Given the description of an element on the screen output the (x, y) to click on. 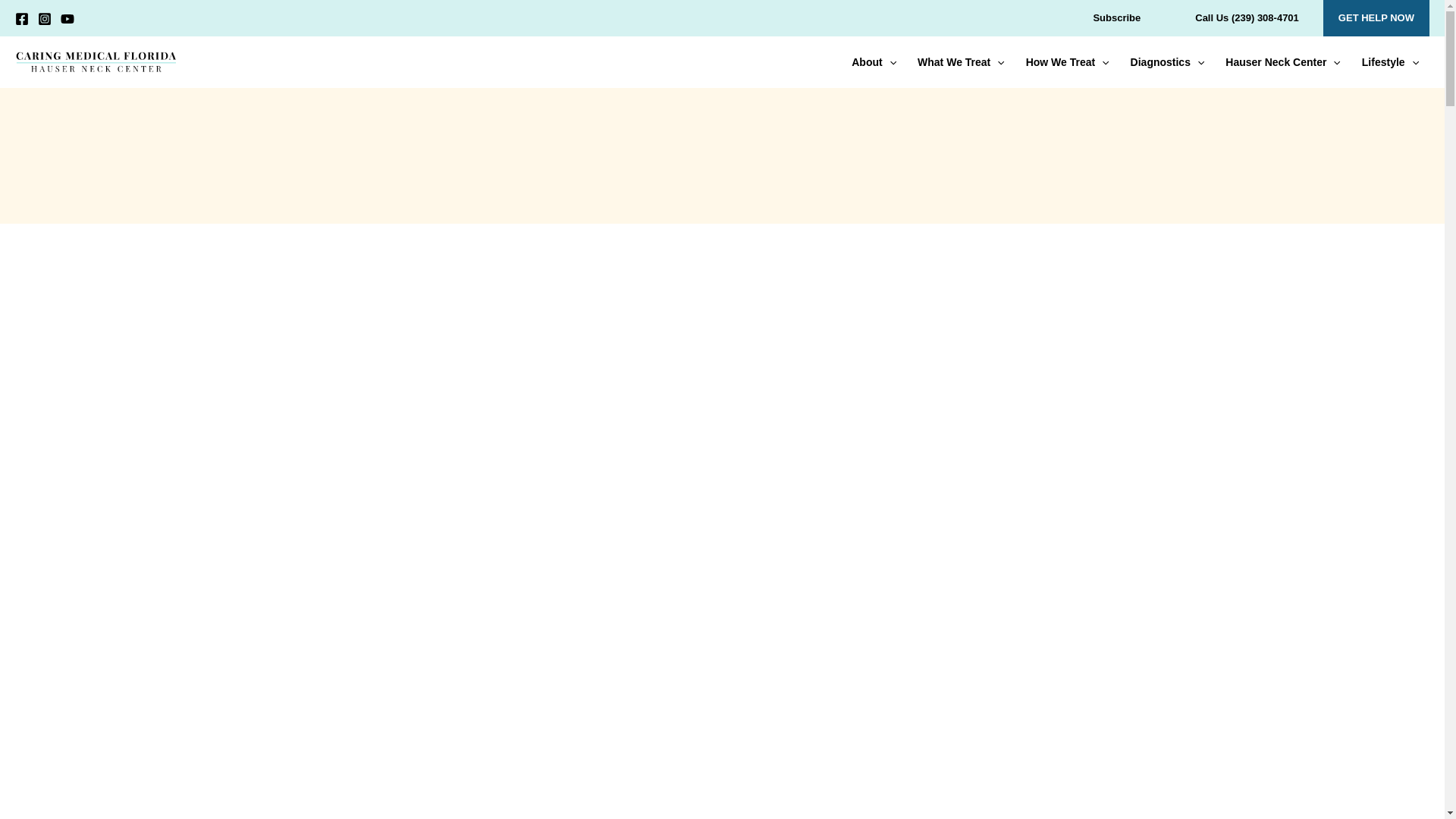
GET HELP NOW (1376, 18)
About (874, 62)
Subscribe (1116, 18)
What We Treat (960, 62)
